Given the description of an element on the screen output the (x, y) to click on. 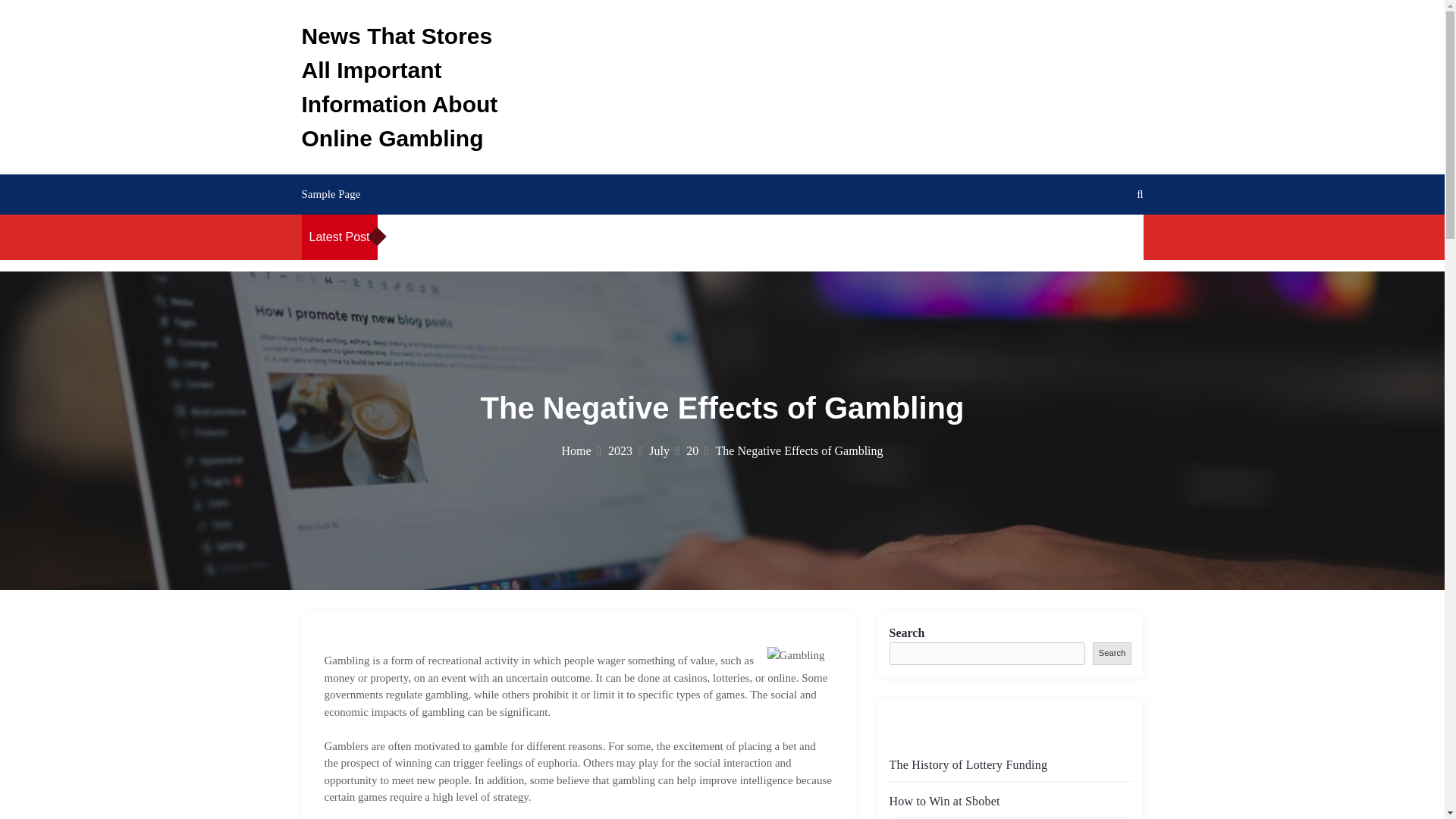
Home (579, 450)
20 (696, 450)
July (664, 450)
The History of Lottery Funding (967, 764)
The History of Lottery Funding (508, 237)
How to Win at Sbobet (943, 800)
Sample Page (331, 193)
How to Win at Sbobet (645, 237)
How to Win at Sbobet (934, 237)
2023 (625, 450)
Search (1112, 653)
The History of Lottery Funding (797, 237)
